Given the description of an element on the screen output the (x, y) to click on. 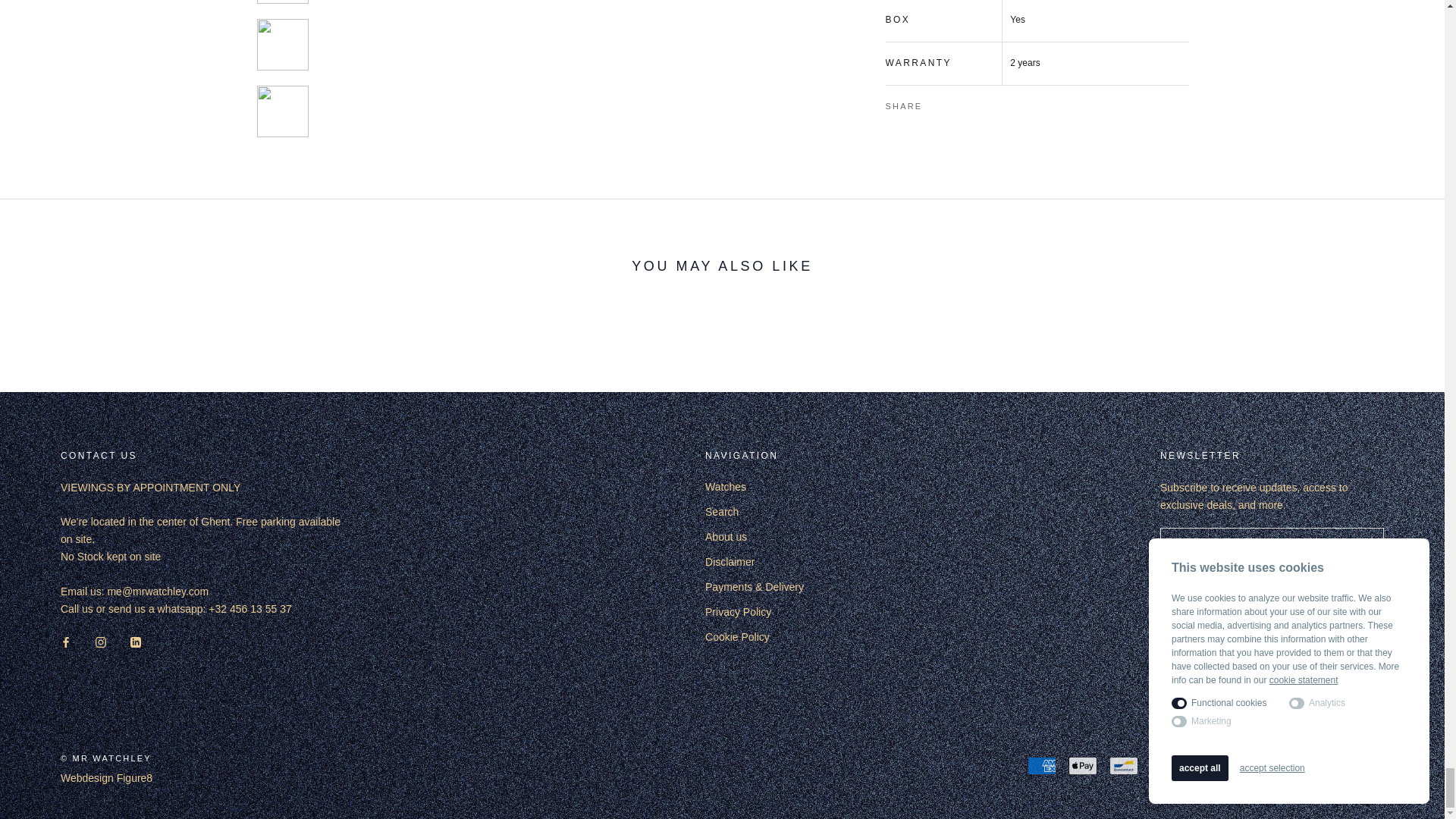
Bancontact (1123, 765)
Visa (1369, 765)
Maestro (1205, 765)
Google Pay (1164, 765)
Apple Pay (1082, 765)
Union Pay (1328, 765)
American Express (1042, 765)
Shop Pay (1286, 765)
Mastercard (1245, 765)
